Given the description of an element on the screen output the (x, y) to click on. 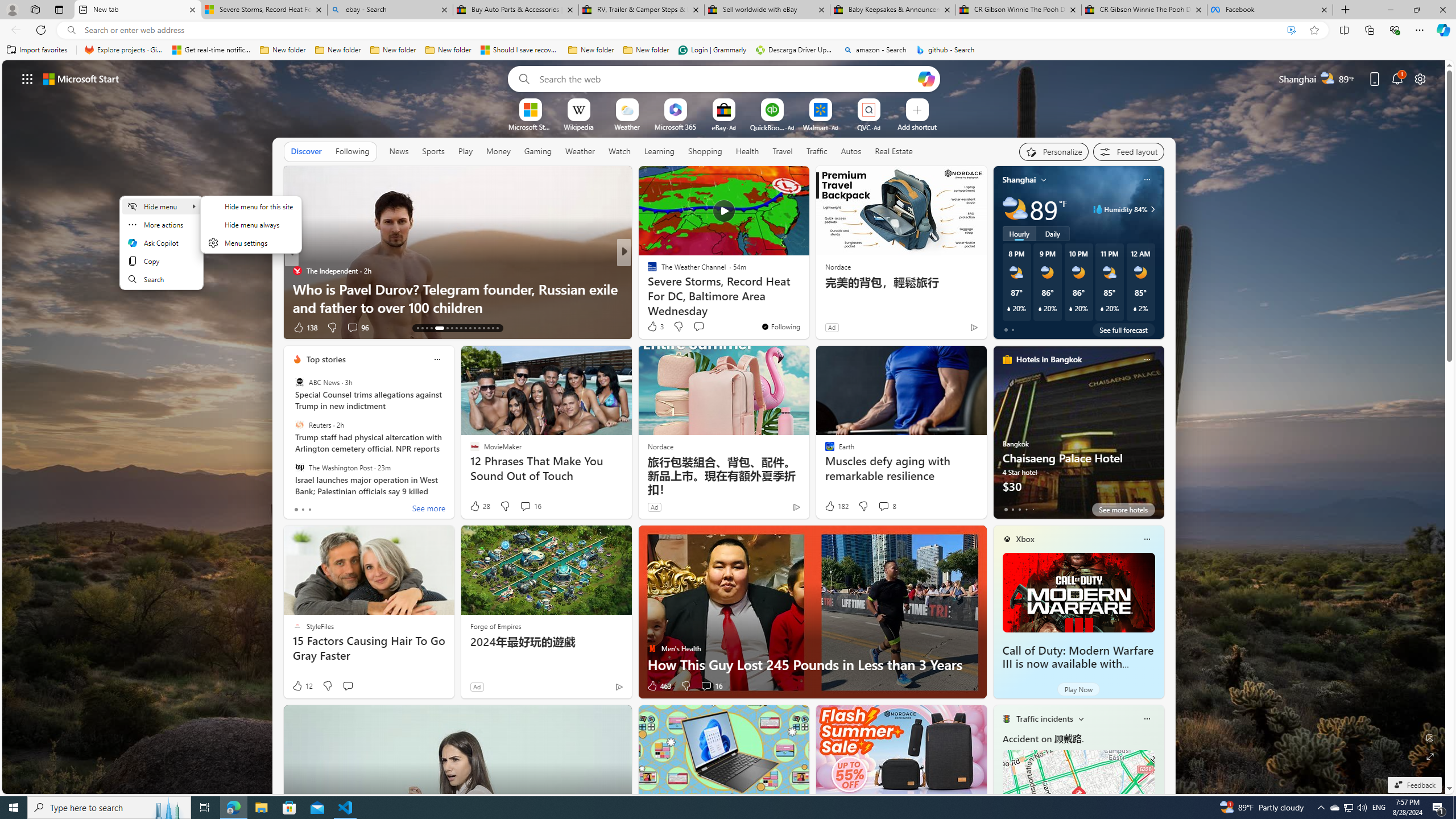
Descarga Driver Updater (794, 49)
7 Like (651, 327)
AutomationID: tab-24 (474, 328)
Verywell Mind (647, 288)
tab-0 (1005, 509)
Sports (432, 151)
AutomationID: tab-15 (426, 328)
